Given the description of an element on the screen output the (x, y) to click on. 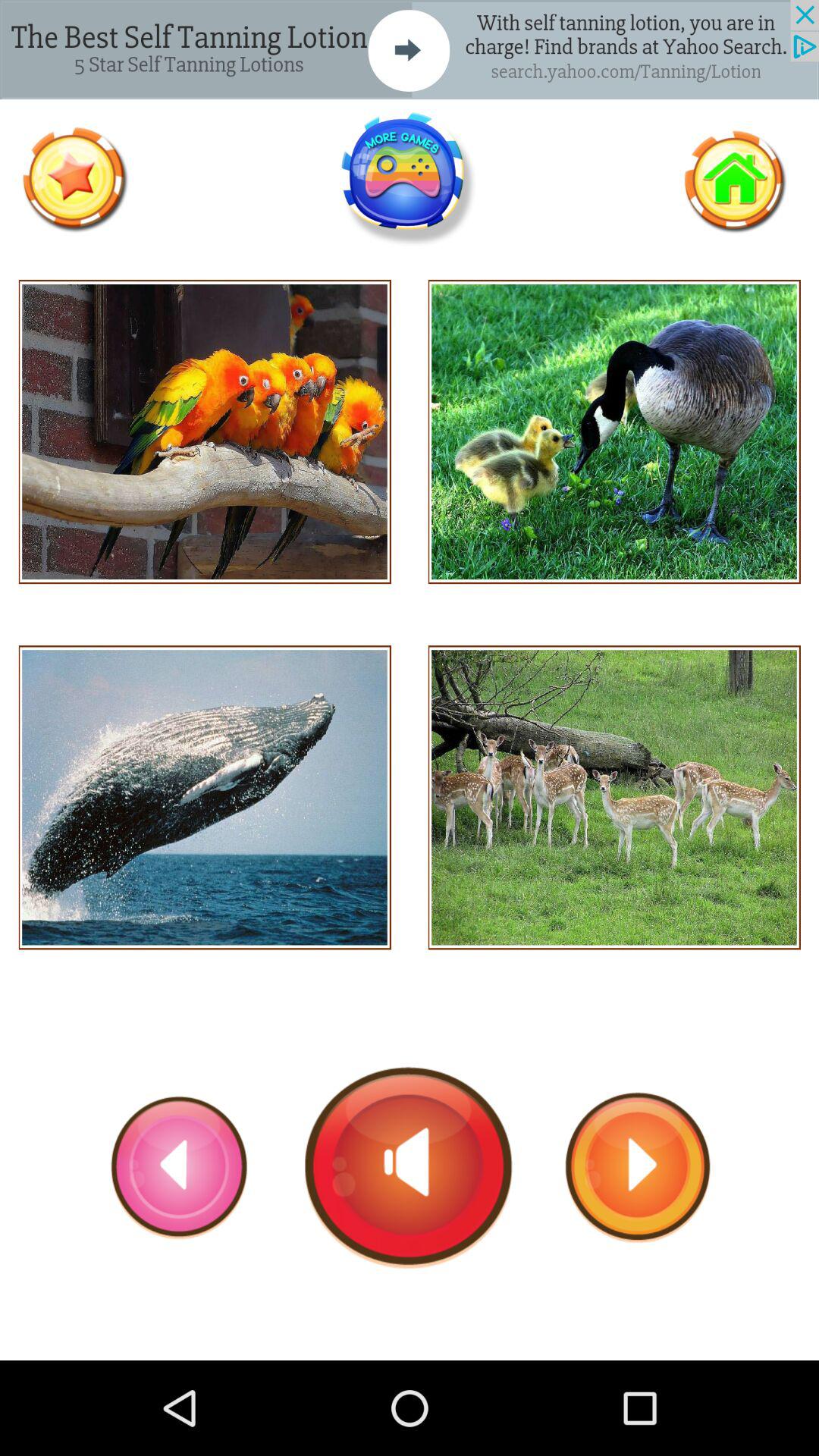
like page (74, 179)
